Given the description of an element on the screen output the (x, y) to click on. 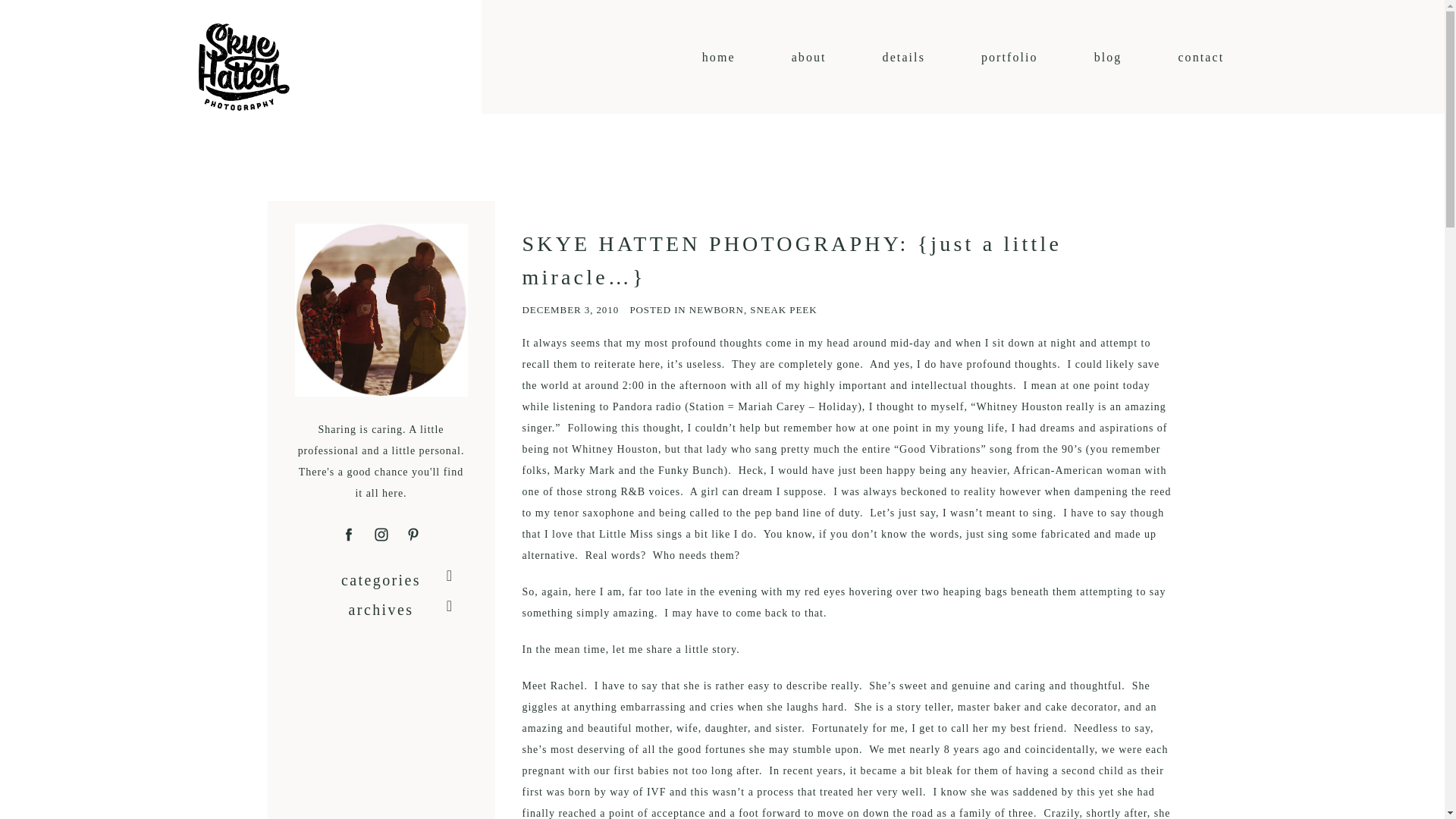
about (809, 56)
portfolio (1009, 56)
details (903, 56)
blog (1108, 56)
contact (1200, 56)
home (718, 56)
